Given the description of an element on the screen output the (x, y) to click on. 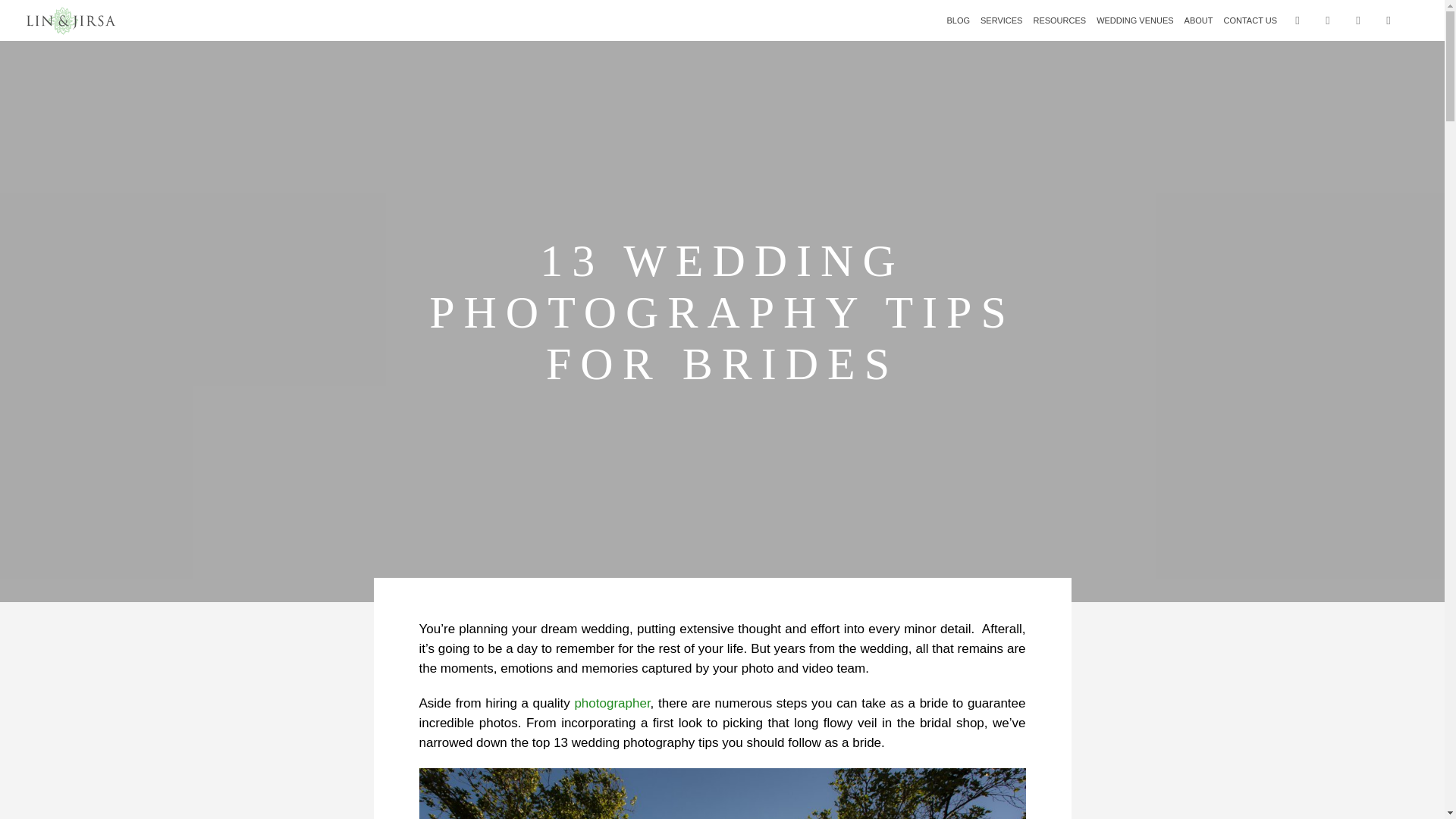
SERVICES (1001, 20)
WEDDING VENUES (1133, 20)
CONTACT US (1249, 20)
ABOUT (1198, 20)
RESOURCES (1058, 20)
photographer (611, 703)
